Given the description of an element on the screen output the (x, y) to click on. 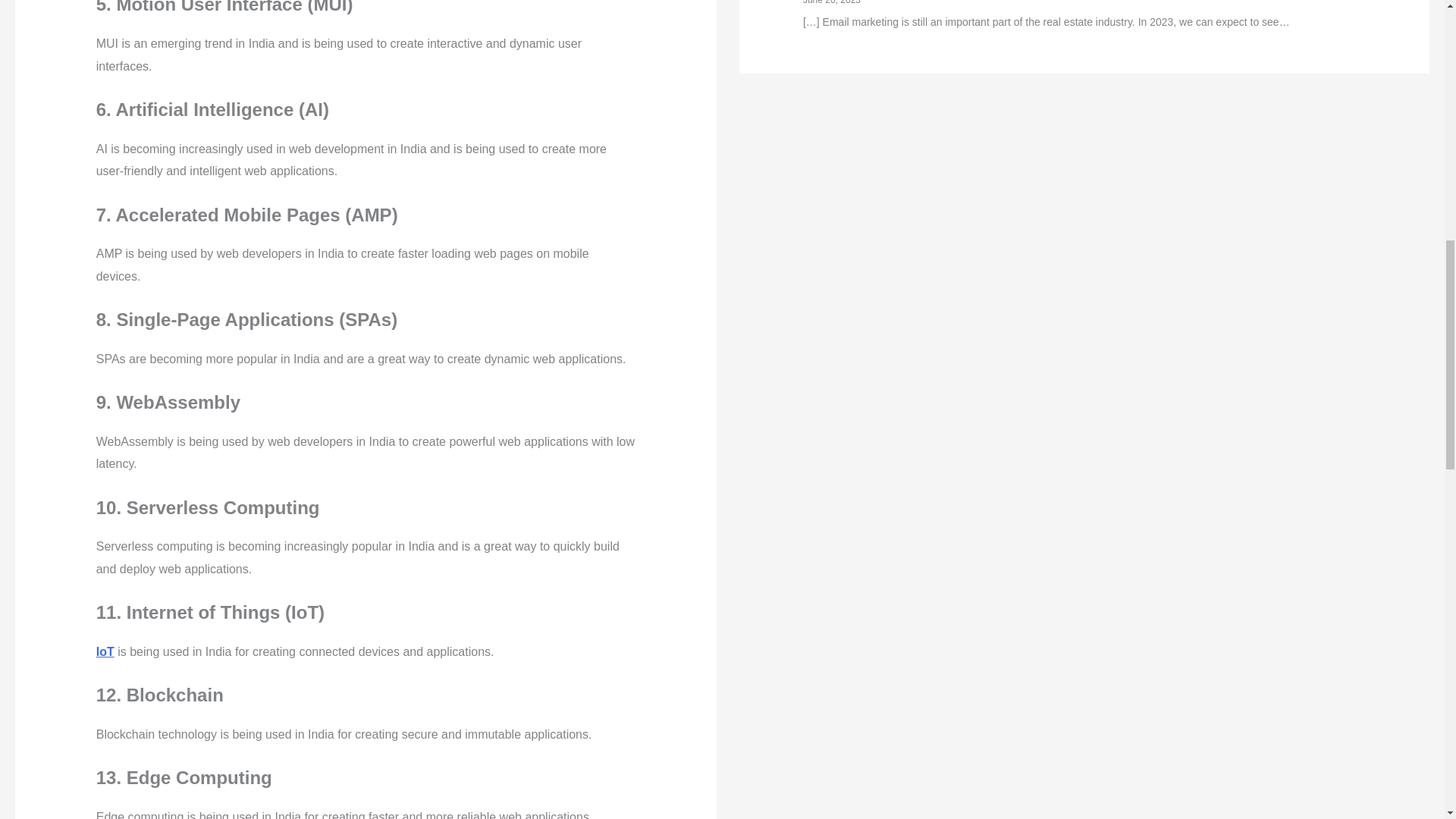
IoT (105, 651)
